Given the description of an element on the screen output the (x, y) to click on. 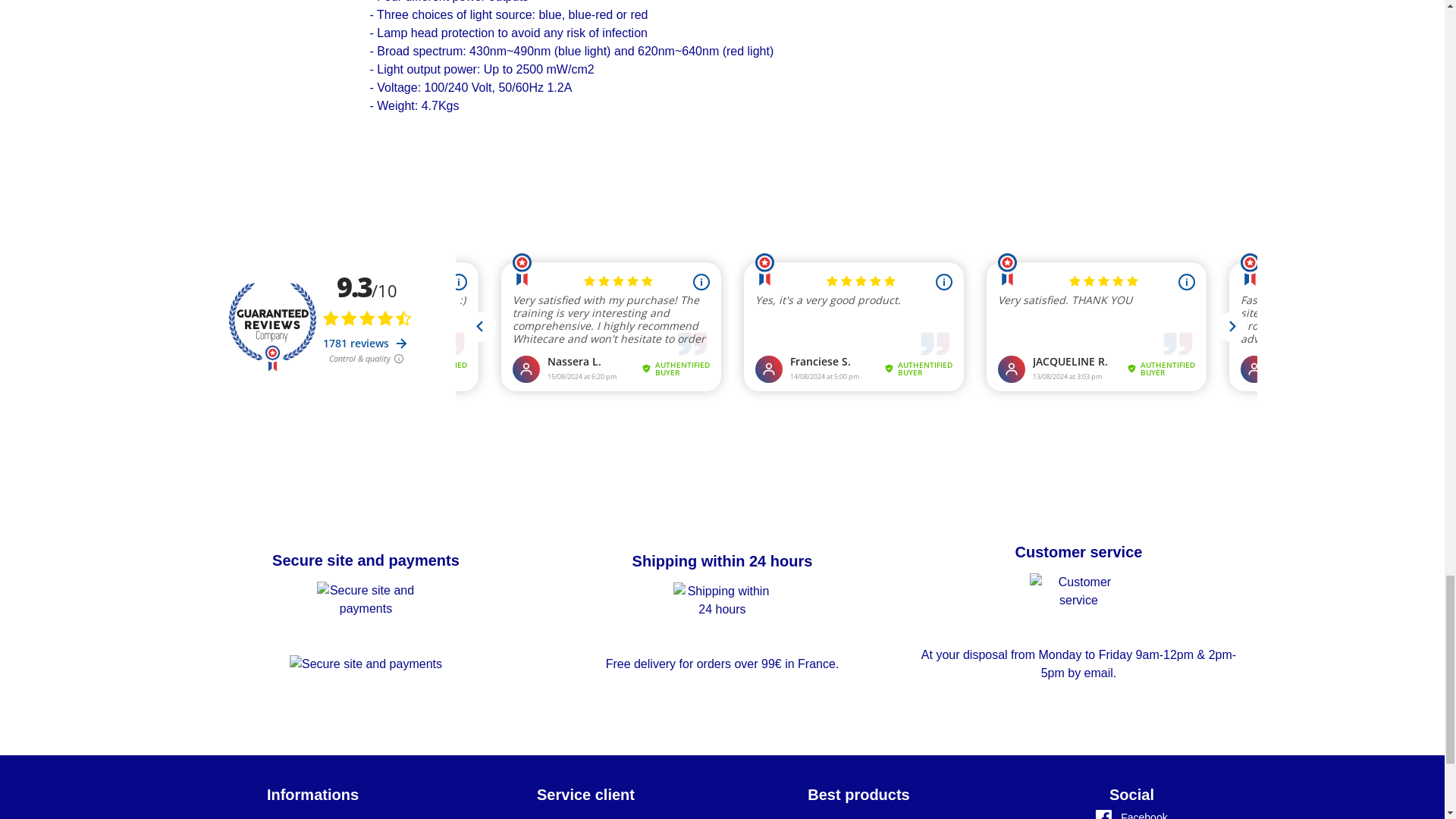
Shipping within 24 hours (721, 561)
Secure site and payments (366, 560)
Customer service (1078, 551)
